Given the description of an element on the screen output the (x, y) to click on. 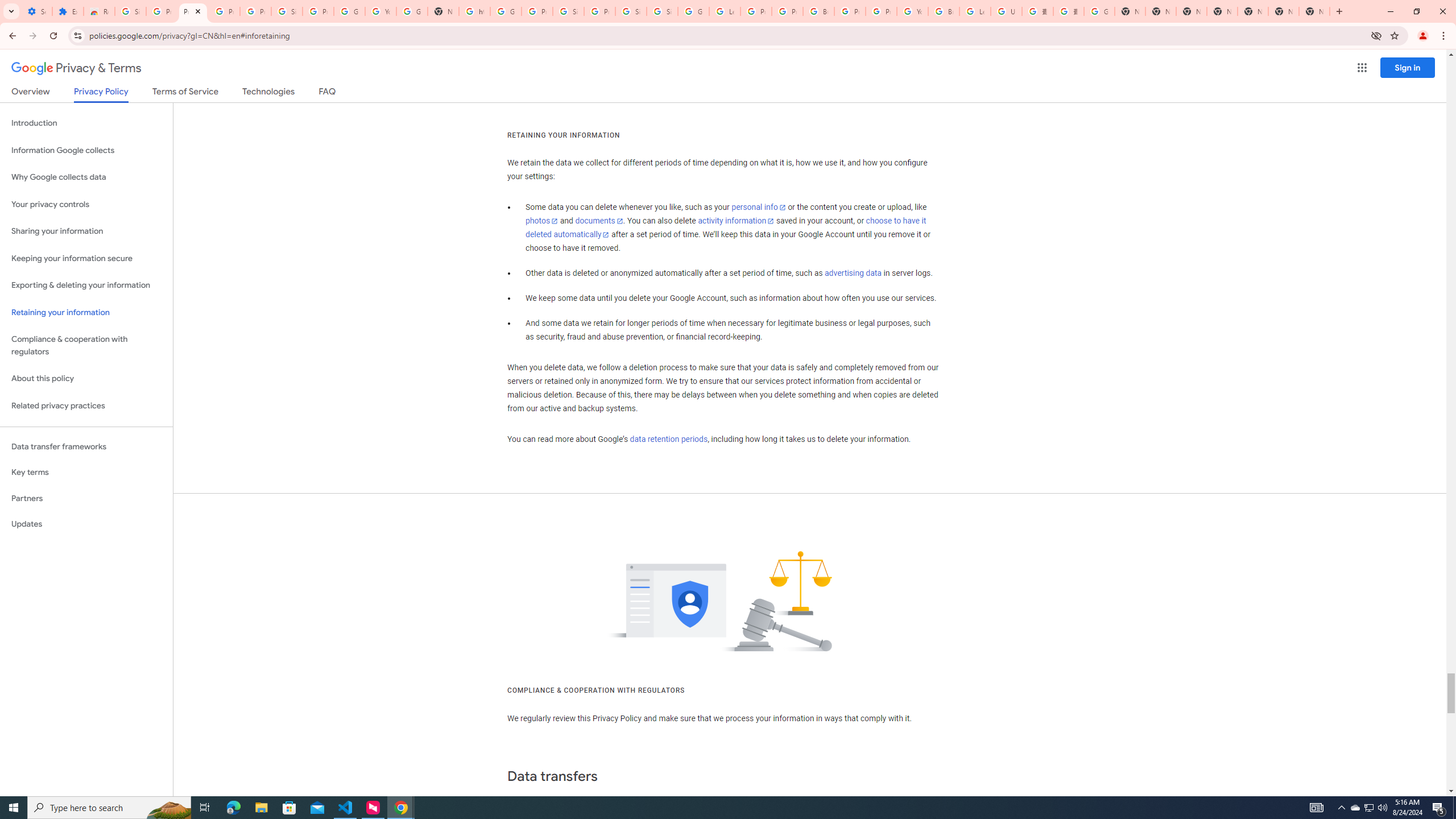
YouTube (912, 11)
advertising data (852, 273)
Your privacy controls (86, 204)
Retaining your information (86, 312)
New Tab (1222, 11)
Sign in - Google Accounts (286, 11)
